Given the description of an element on the screen output the (x, y) to click on. 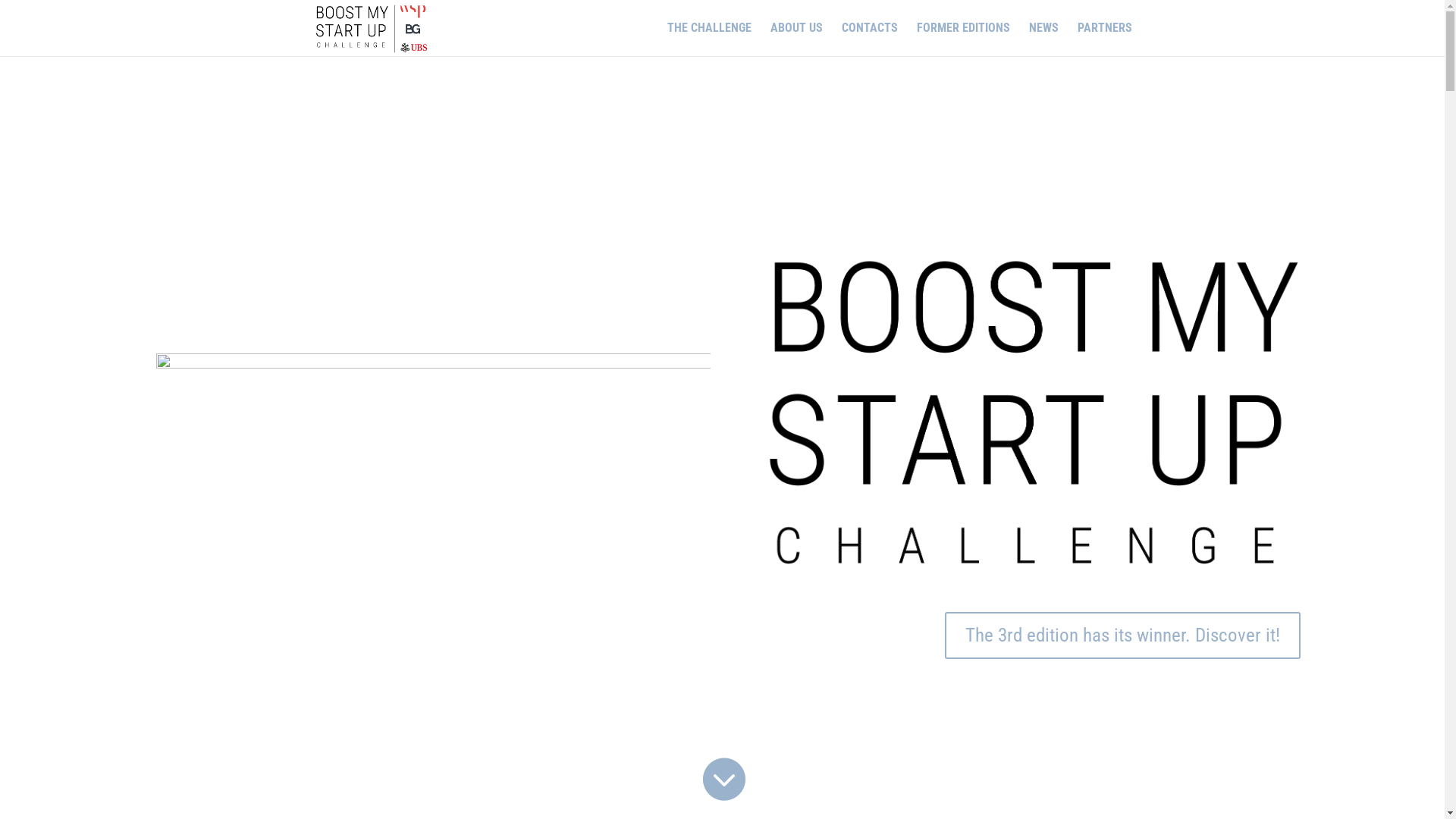
PARTNERS Element type: text (1103, 39)
CONTACTS Element type: text (869, 39)
ABOUT US Element type: text (796, 39)
THE CHALLENGE Element type: text (709, 39)
NEWS Element type: text (1042, 39)
The 3rd edition has its winner. Discover it! Element type: text (1122, 634)
FORMER EDITIONS Element type: text (962, 39)
